Given the description of an element on the screen output the (x, y) to click on. 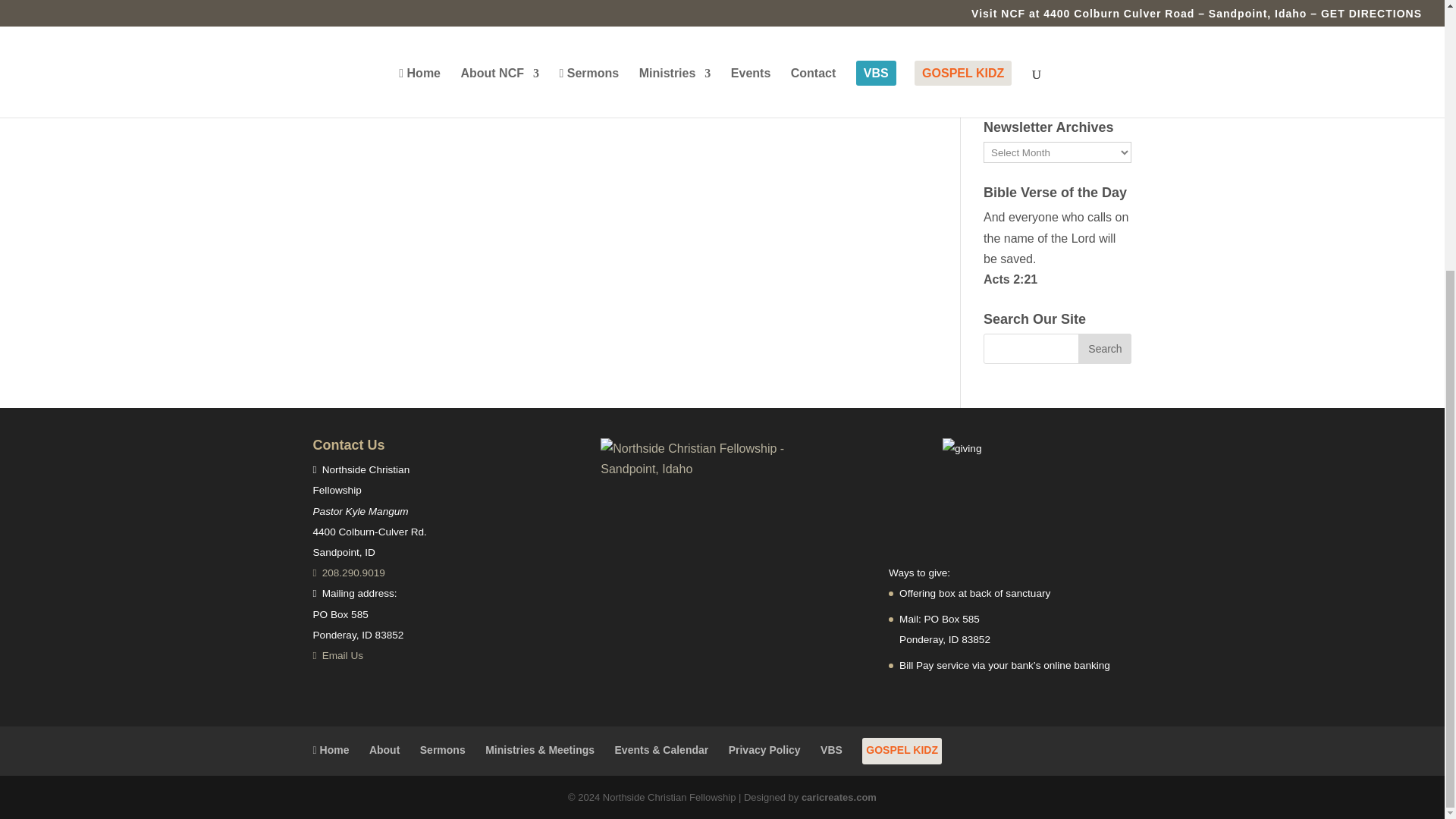
Home (331, 749)
Eric Klerck (614, 39)
Sunday Morning (617, 64)
  Email Us (337, 655)
Home (331, 749)
Acts 2:21 (1010, 278)
Search (1104, 348)
Search (1104, 348)
  208.290.9019 (348, 572)
